Given the description of an element on the screen output the (x, y) to click on. 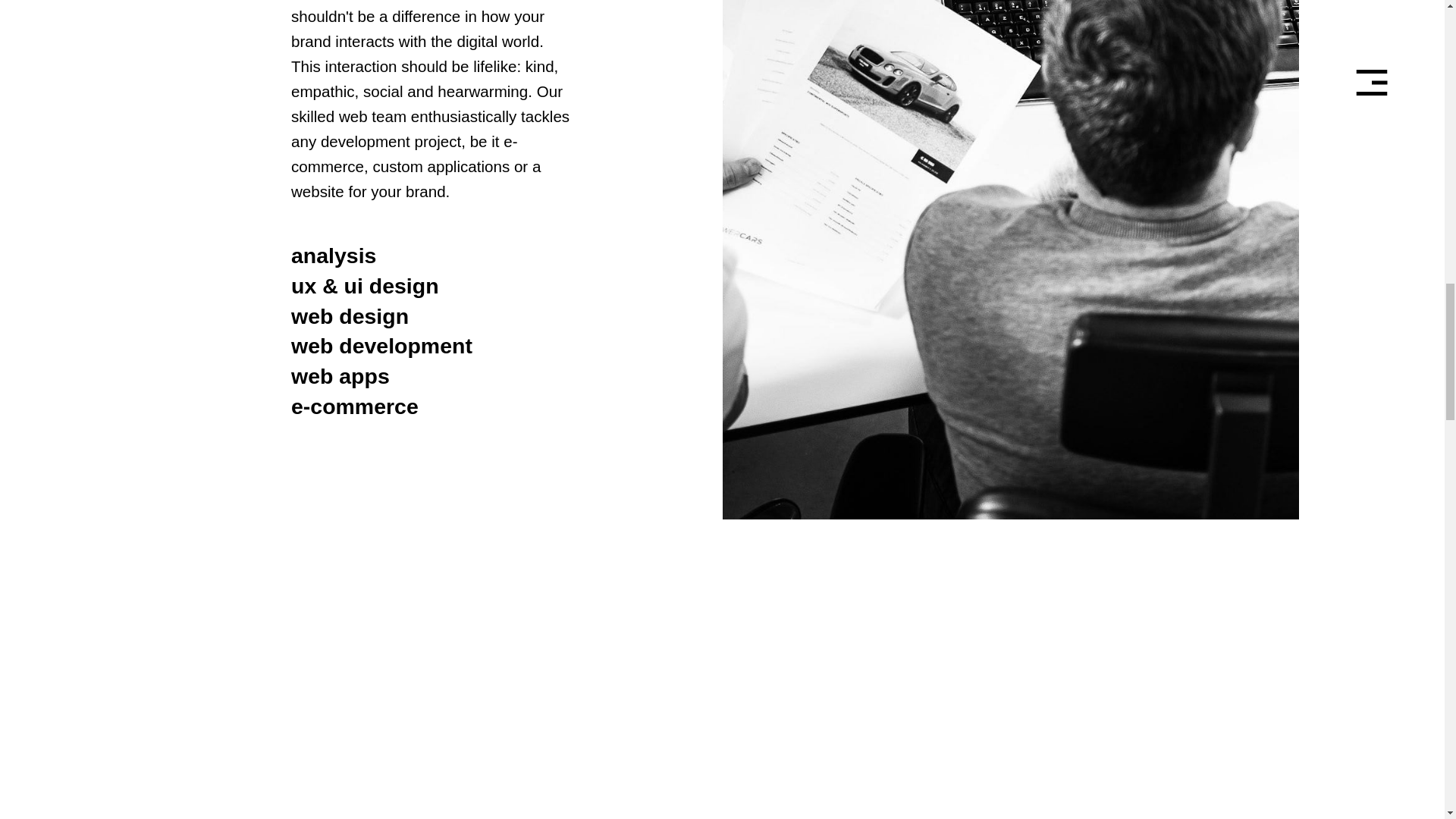
web design (350, 317)
analysis (333, 255)
web development (381, 346)
e-commerce (355, 407)
web apps (340, 376)
